Given the description of an element on the screen output the (x, y) to click on. 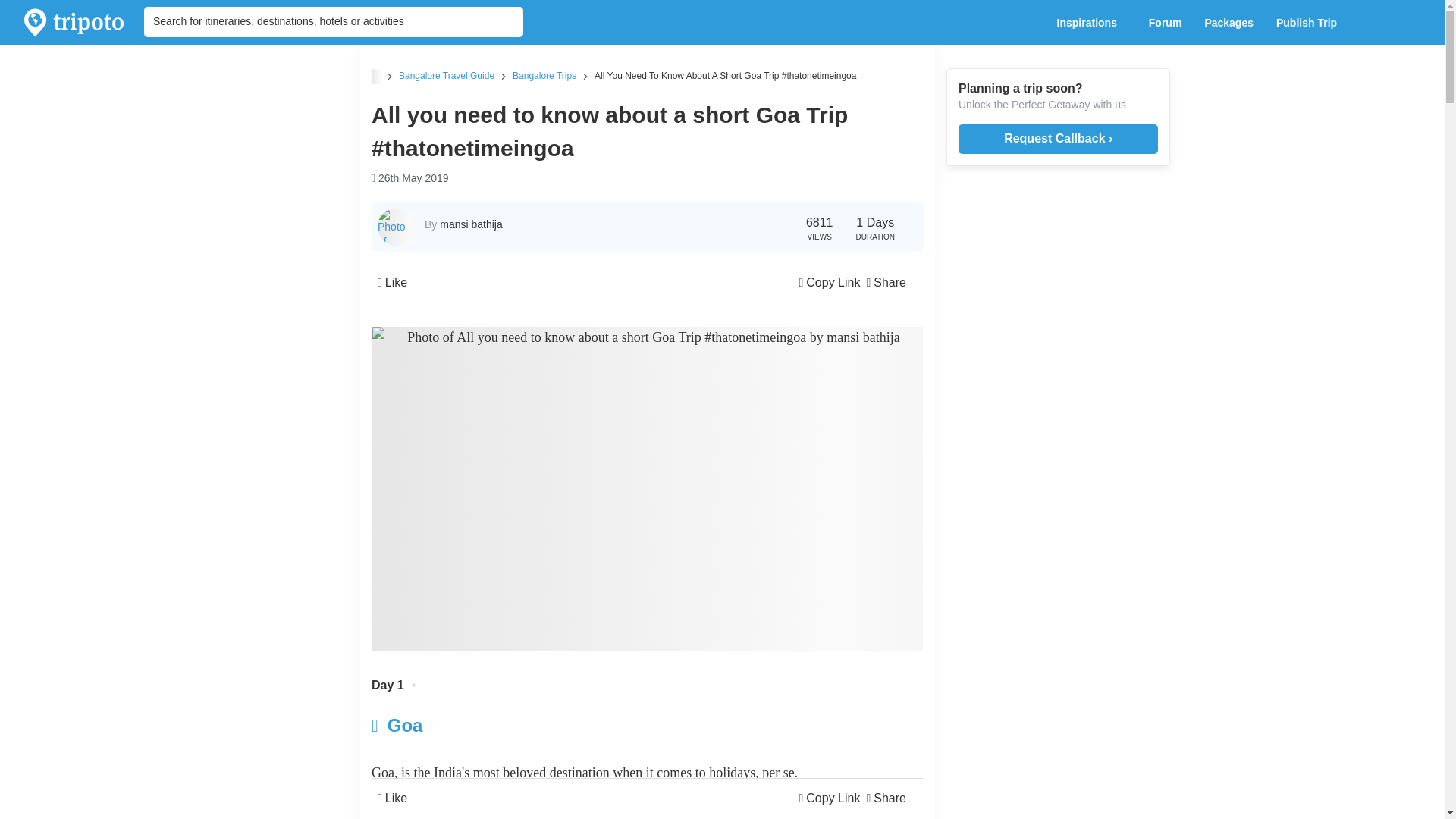
Bangalore Travel Guide (446, 75)
Publish Trip (1310, 22)
Packages (1228, 22)
Inspirations (1091, 22)
Forum (1165, 22)
By mansi bathija (463, 223)
Packages (1228, 22)
Tripoto: India's Largest Community of Travellers (73, 22)
Inspirations (1091, 22)
Publish Trip  (1310, 22)
Forum (1165, 22)
Bangalore Trips (544, 75)
Goa (555, 725)
